Given the description of an element on the screen output the (x, y) to click on. 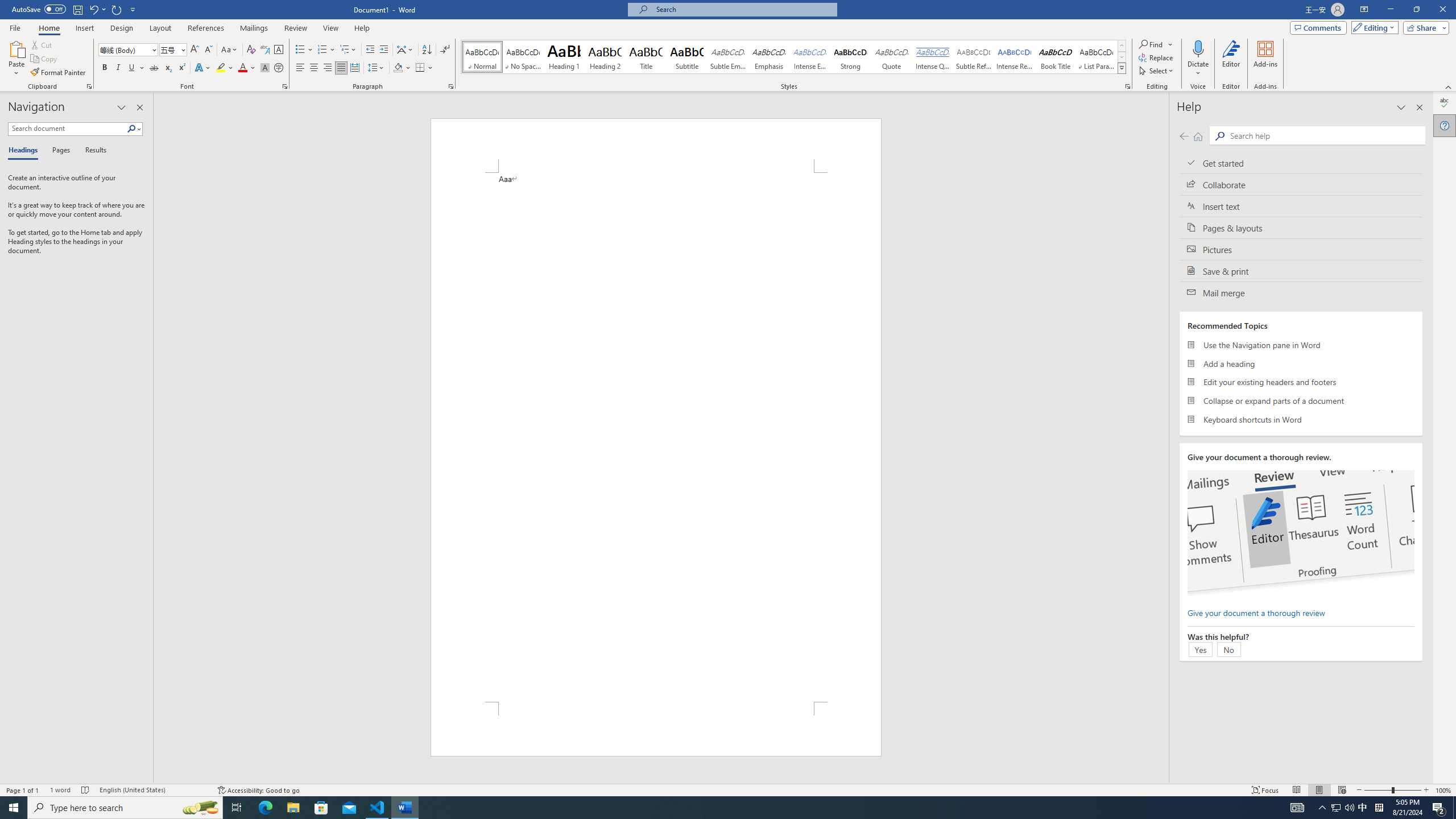
Pages & layouts (1300, 228)
Minimize (1390, 9)
Bullets (300, 49)
Spelling and Grammar Check No Errors (85, 790)
Font Color Red (241, 67)
Align Left (300, 67)
Increase Indent (383, 49)
Zoom (1392, 790)
Subtle Reference (973, 56)
Character Border (278, 49)
Home (48, 28)
Share (1423, 27)
Design (122, 28)
